Given the description of an element on the screen output the (x, y) to click on. 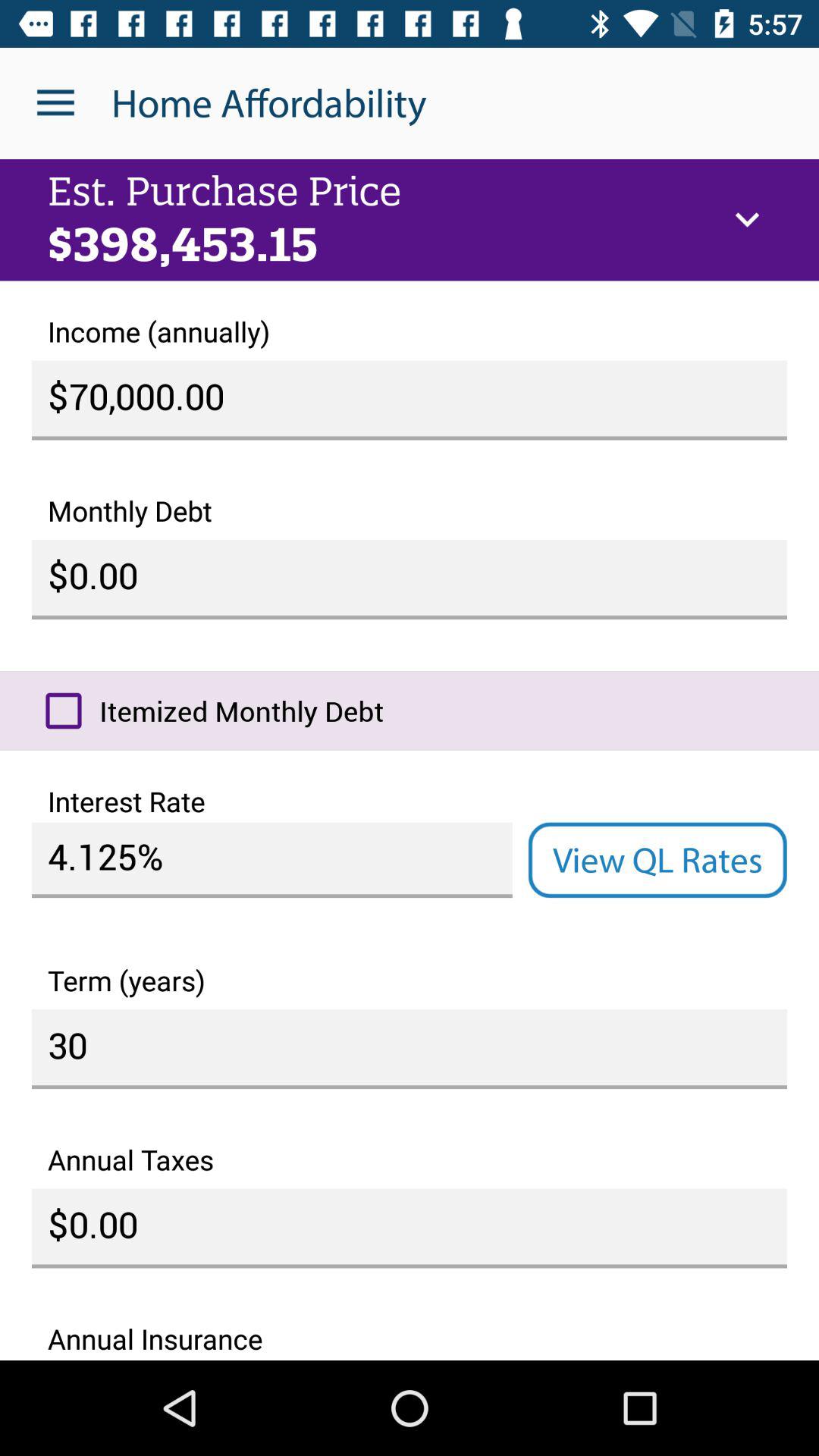
jump until the 30 item (409, 1049)
